Given the description of an element on the screen output the (x, y) to click on. 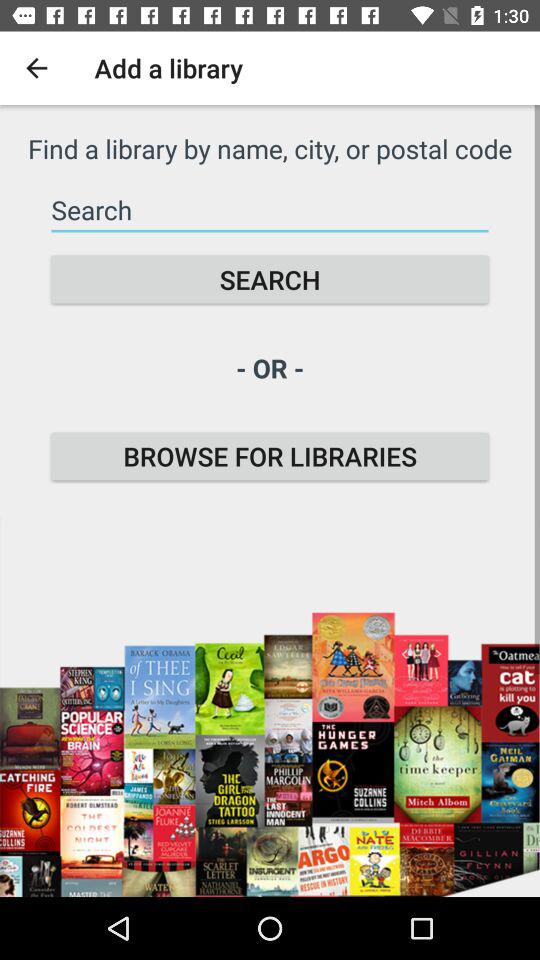
press the icon to the left of add a library icon (36, 68)
